Given the description of an element on the screen output the (x, y) to click on. 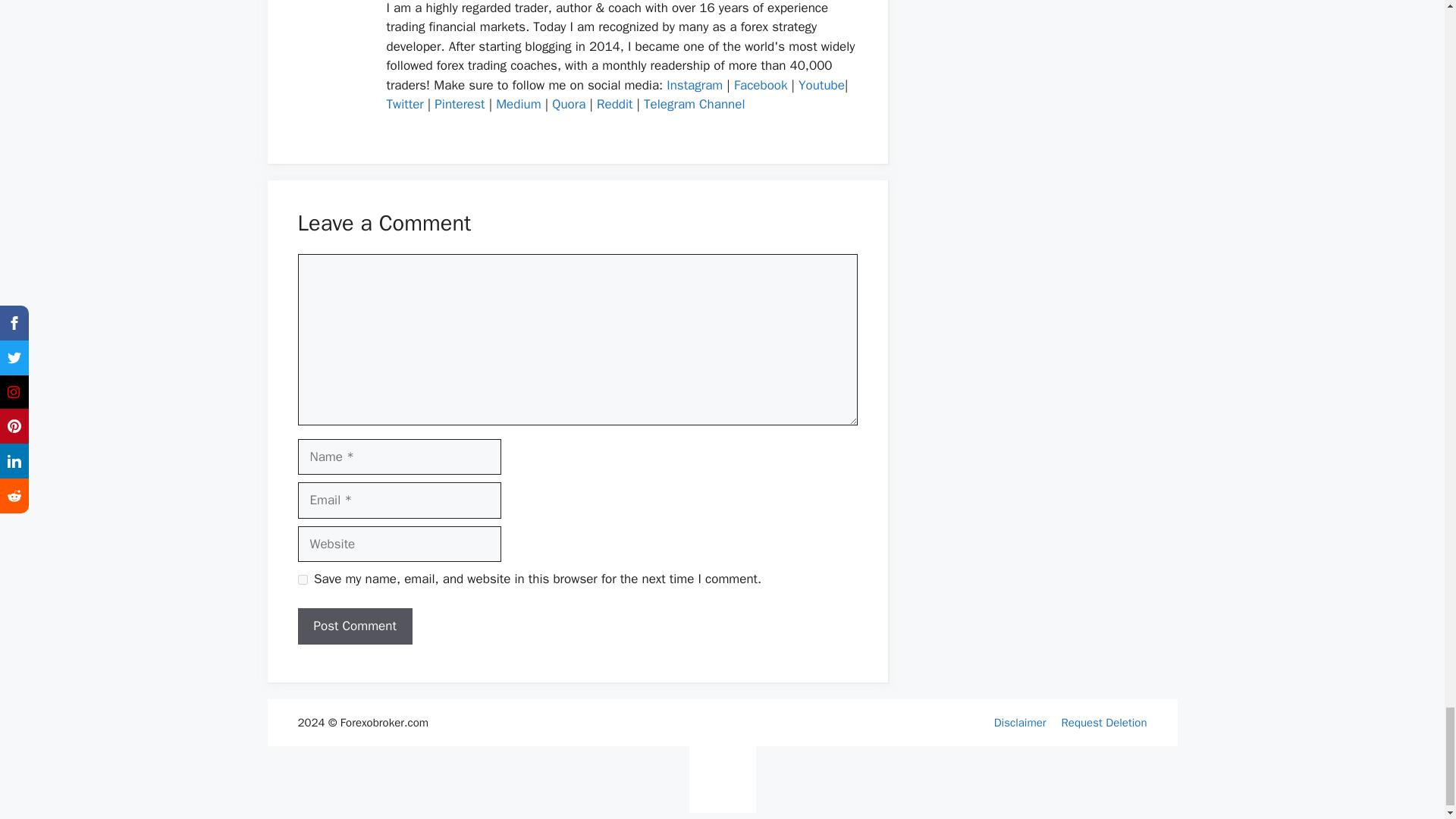
yes (302, 579)
Post Comment (354, 626)
